Given the description of an element on the screen output the (x, y) to click on. 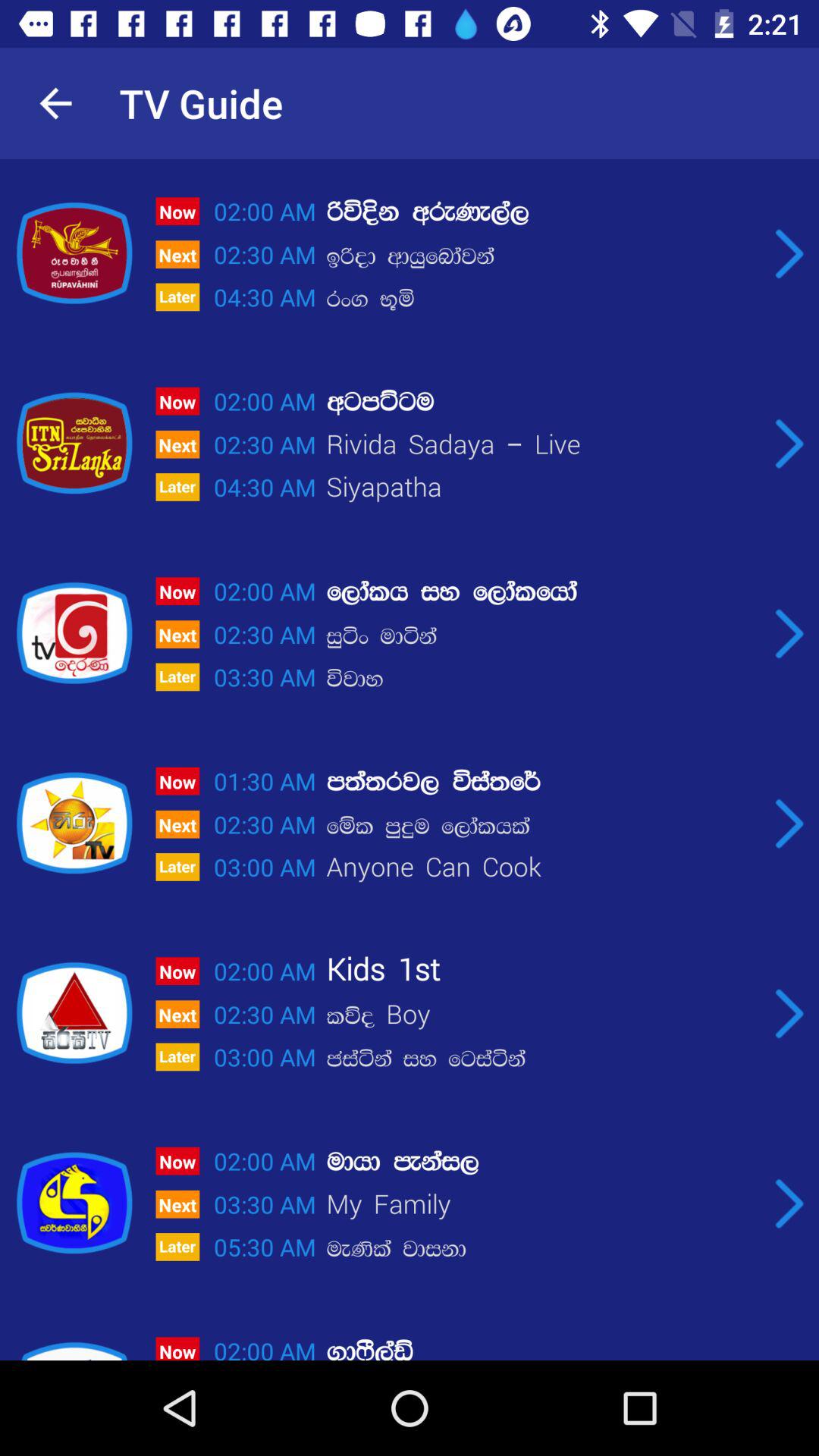
launch icon to the left of tv guide icon (55, 103)
